Given the description of an element on the screen output the (x, y) to click on. 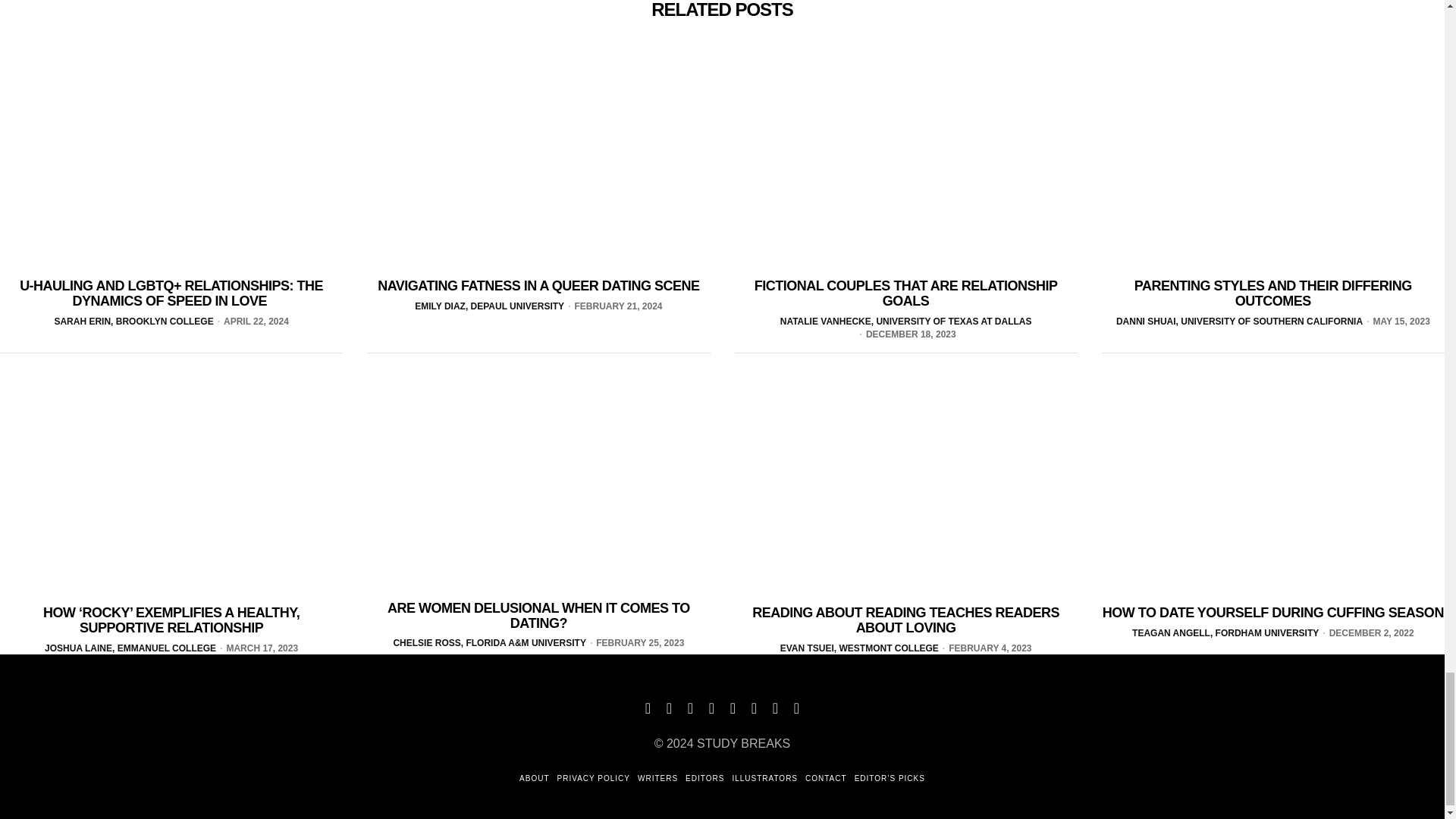
25 Feb, 2023 08:16:00 (635, 643)
04 Feb, 2023 08:34:00 (985, 647)
17 Mar, 2023 08:16:00 (256, 647)
21 Feb, 2024 13:29:30 (613, 306)
18 Dec, 2023 18:32:00 (906, 334)
15 May, 2023 08:02:00 (1395, 321)
22 Apr, 2024 11:24:44 (251, 321)
02 Dec, 2022 08:47:00 (1366, 633)
